Given the description of an element on the screen output the (x, y) to click on. 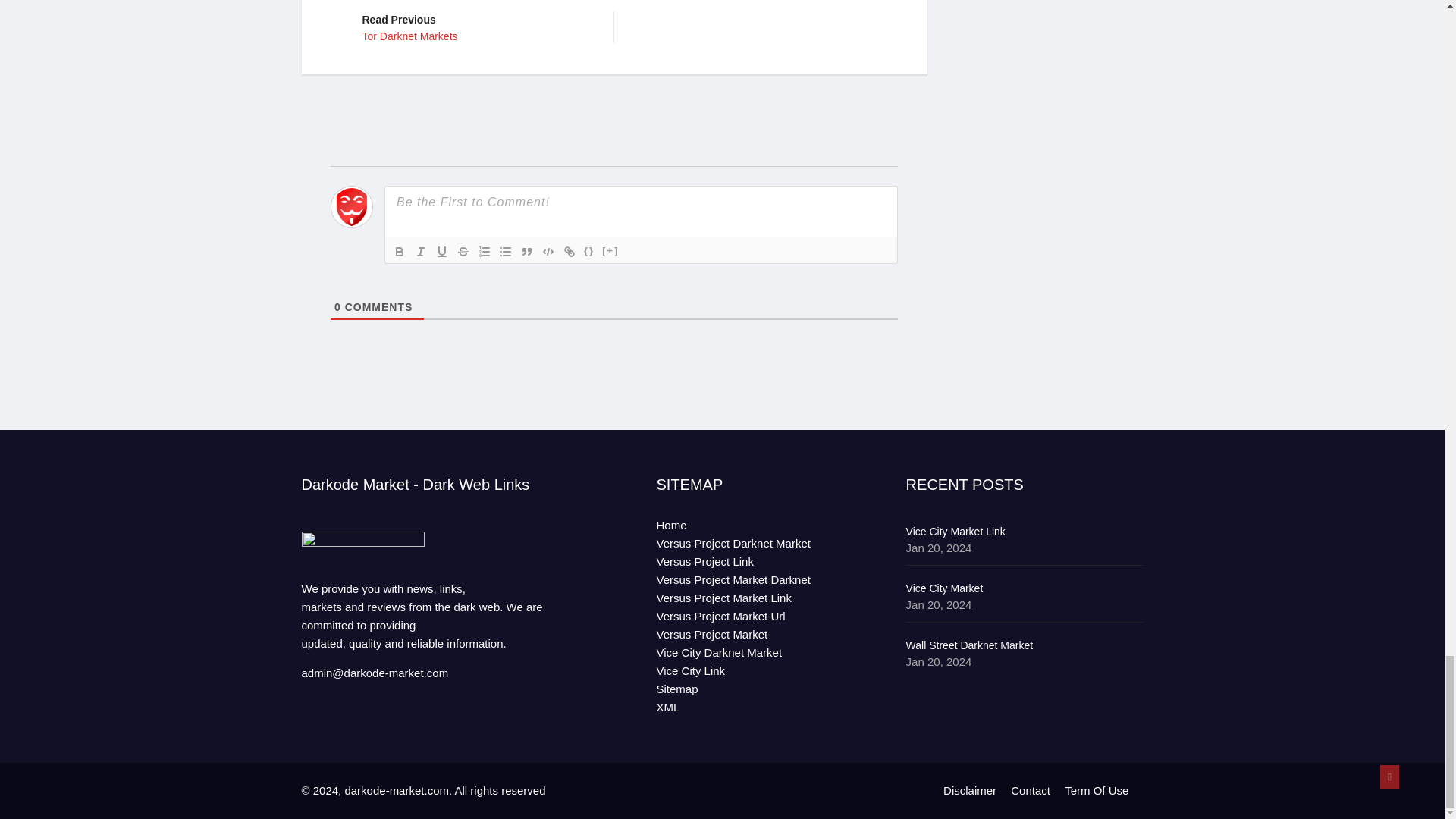
Source Code (588, 251)
Ordered List (484, 251)
Code Block (548, 251)
Strike (463, 251)
Underline (441, 251)
Blockquote (526, 251)
Link (569, 251)
Italic (476, 27)
Unordered List (420, 251)
